Given the description of an element on the screen output the (x, y) to click on. 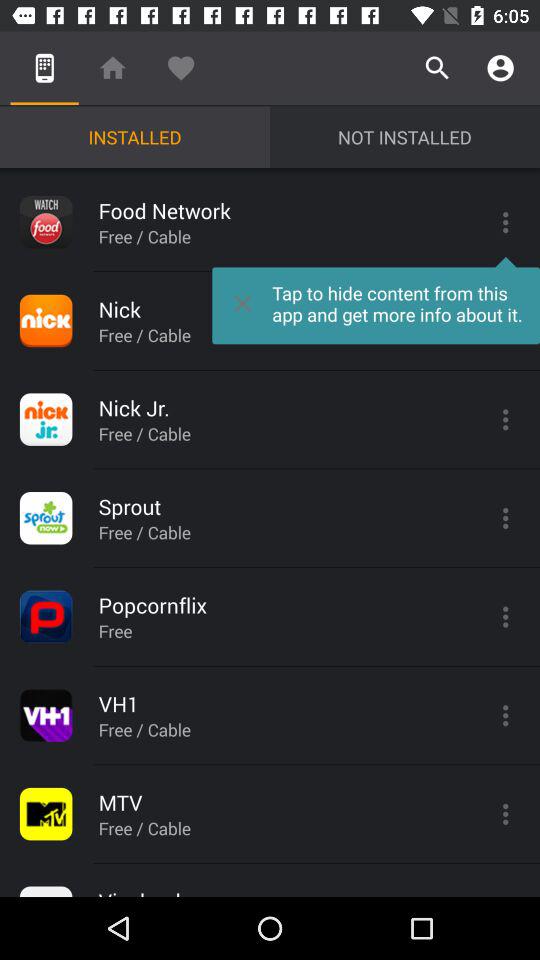
choose the icon to the right of free / cable item (376, 300)
